Given the description of an element on the screen output the (x, y) to click on. 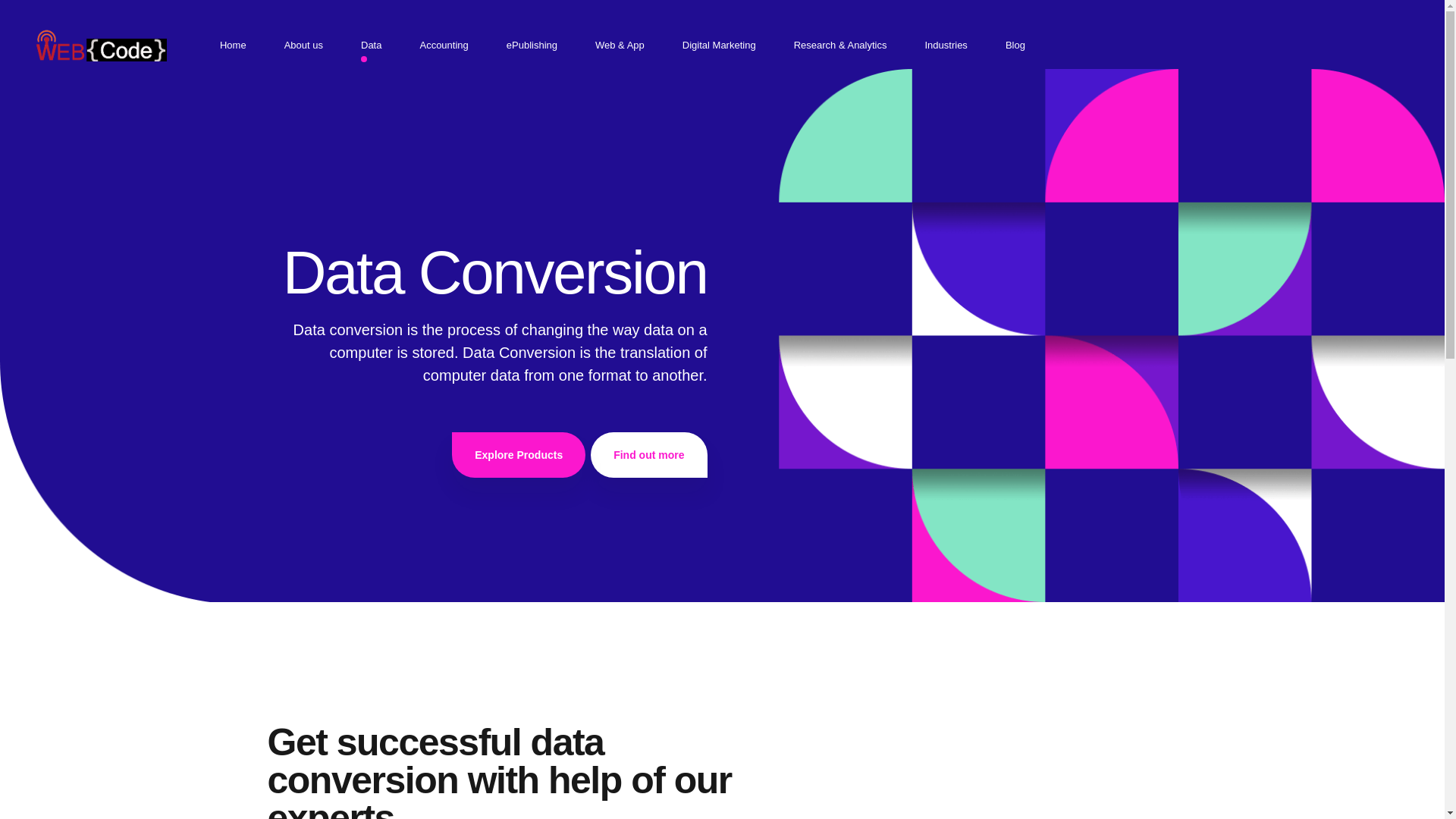
About us (303, 44)
Find out more (648, 454)
Data (371, 44)
Explore Products (518, 454)
Home (233, 44)
